Given the description of an element on the screen output the (x, y) to click on. 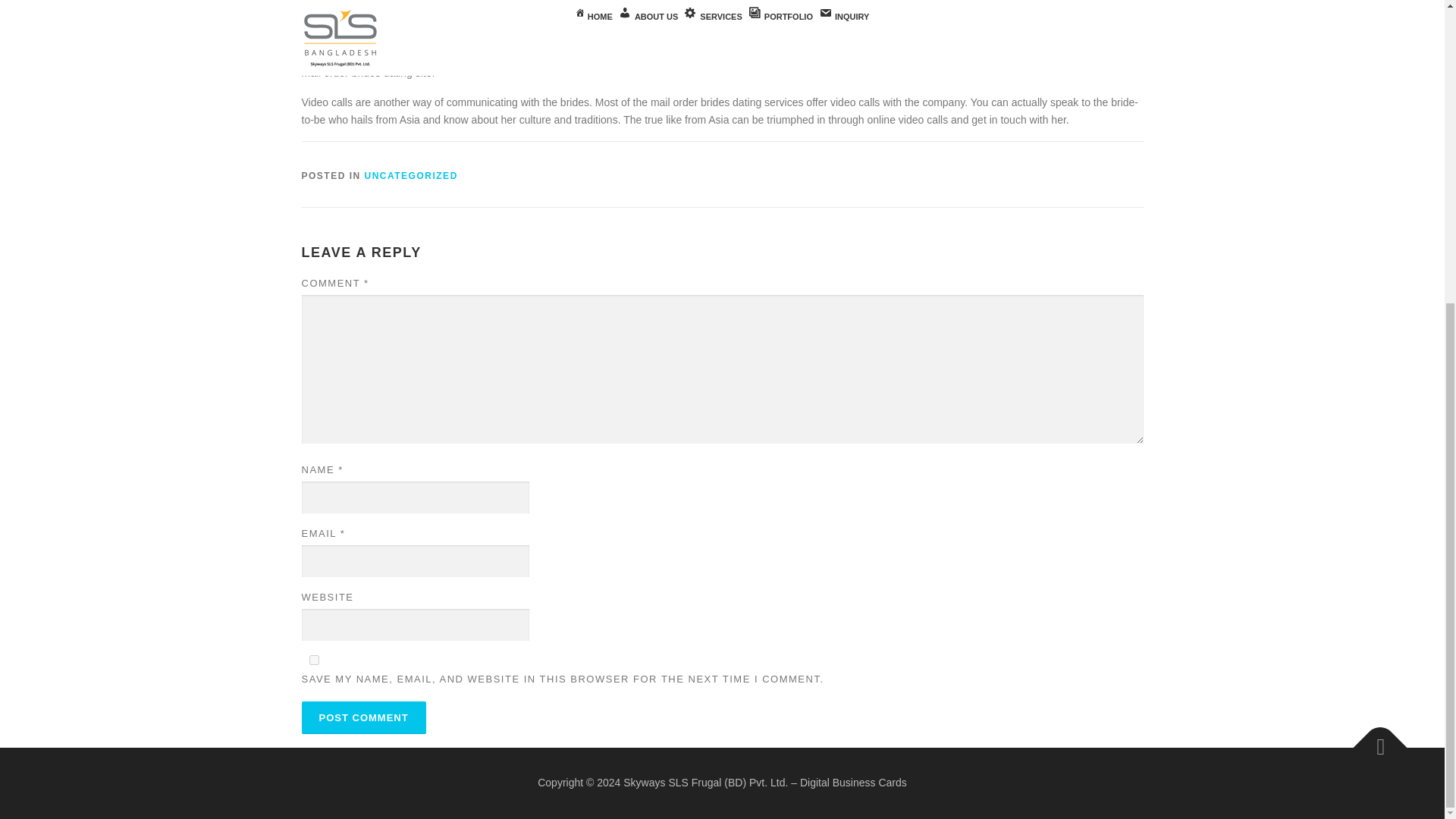
UNCATEGORIZED (411, 175)
Post Comment (363, 717)
yes (313, 660)
best online dating sites for marriage (763, 36)
Post Comment (363, 717)
Back To Top (1372, 740)
